Given the description of an element on the screen output the (x, y) to click on. 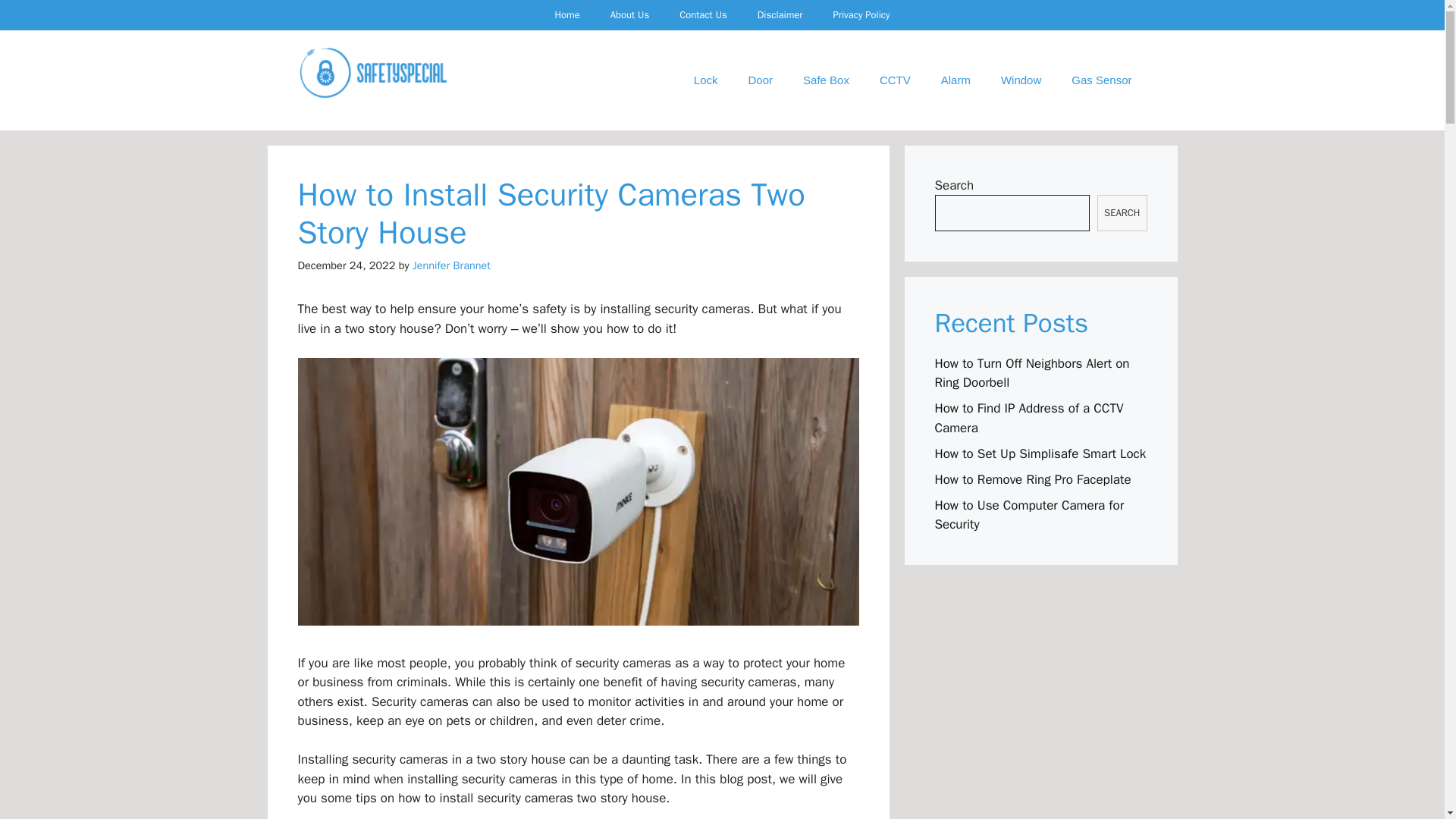
Home (566, 15)
Gas Sensor (1102, 80)
Safe Box (825, 80)
CCTV (895, 80)
Door (761, 80)
Window (1021, 80)
How to Use Computer Camera for Security (1029, 515)
How to Find IP Address of a CCTV Camera (1028, 417)
How to Remove Ring Pro Faceplate (1032, 479)
About Us (629, 15)
